Given the description of an element on the screen output the (x, y) to click on. 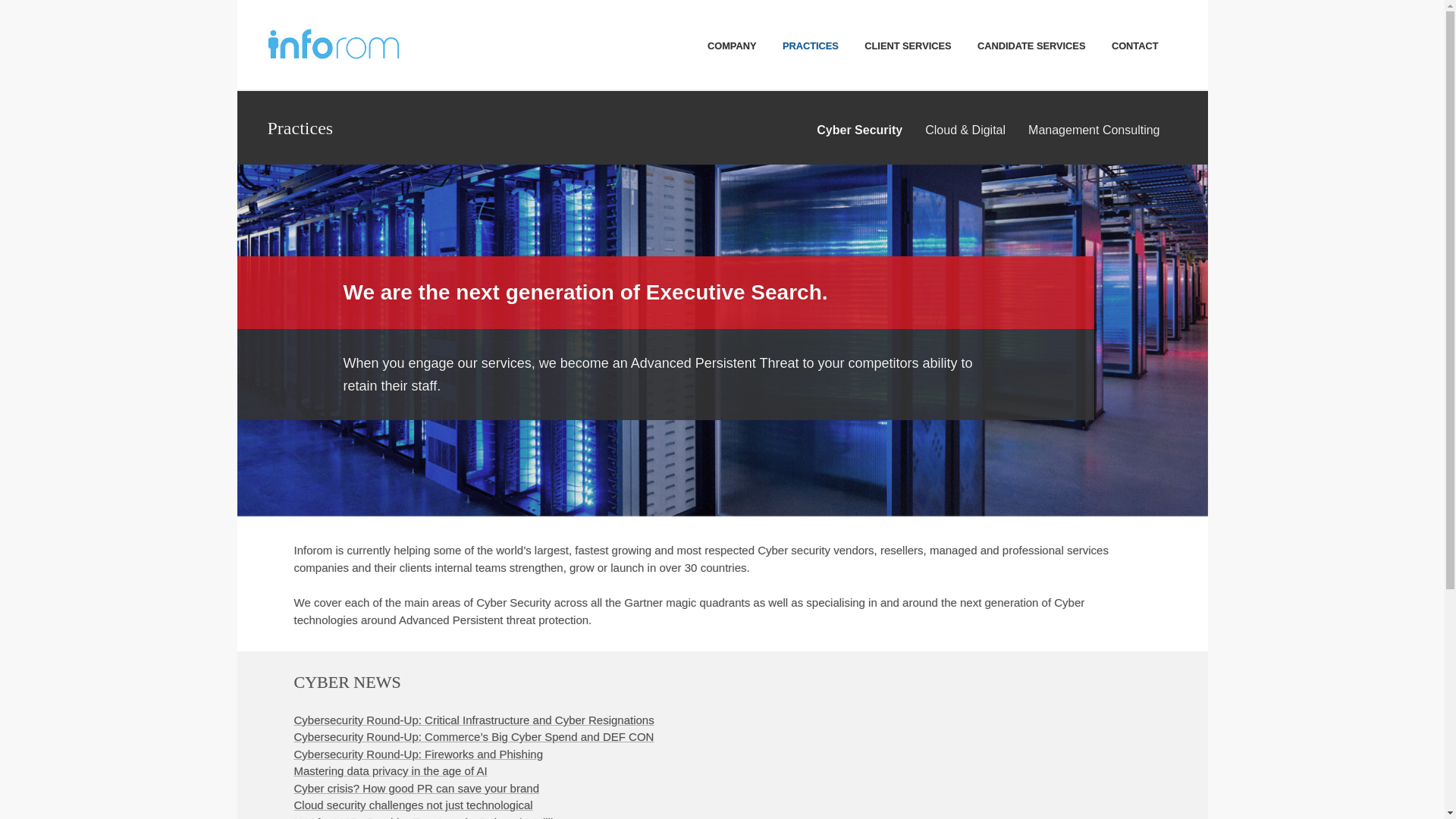
Cloud security challenges not just technological (413, 804)
Cloud security challenges not just technological (413, 804)
CLIENT SERVICES (907, 46)
CONTACT (1135, 46)
CANDIDATE SERVICES (1031, 46)
PRACTICES (810, 46)
Mastering data privacy in the age of AI (390, 770)
Cyber crisis? How good PR can save your brand (416, 788)
Cybersecurity Round-Up: Fireworks and Phishing (418, 753)
Skip to content (675, 39)
Inforom (329, 41)
Skip to content (675, 39)
COMPANY (731, 46)
